Given the description of an element on the screen output the (x, y) to click on. 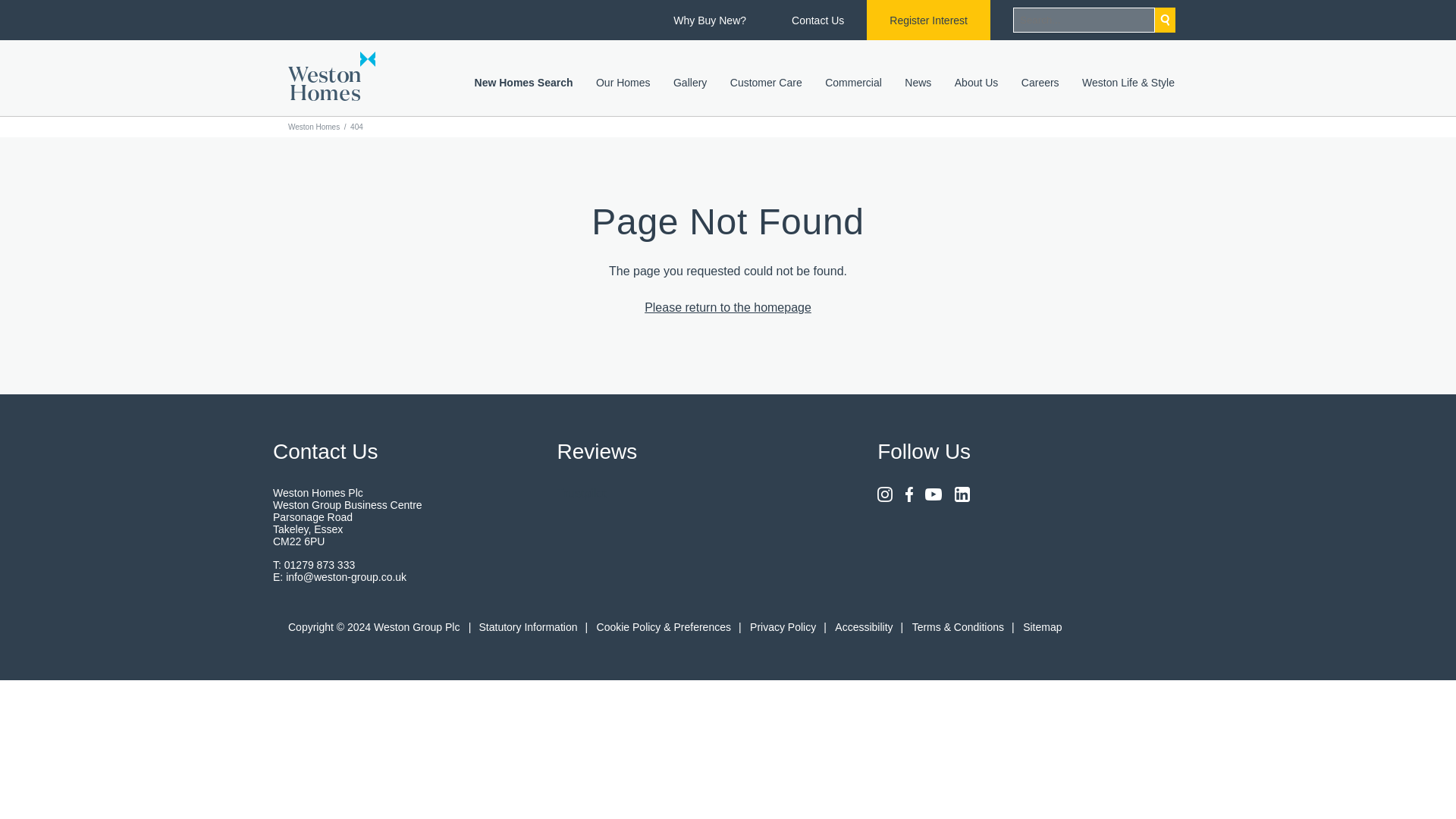
Register Interest (928, 19)
Why Buy New? (709, 19)
Our Homes (622, 84)
Gallery (689, 84)
New Homes Search (523, 84)
Go to Weston Homes. (313, 126)
Weston Homes (331, 75)
Contact Us (817, 19)
Customer Care (766, 84)
